Given the description of an element on the screen output the (x, y) to click on. 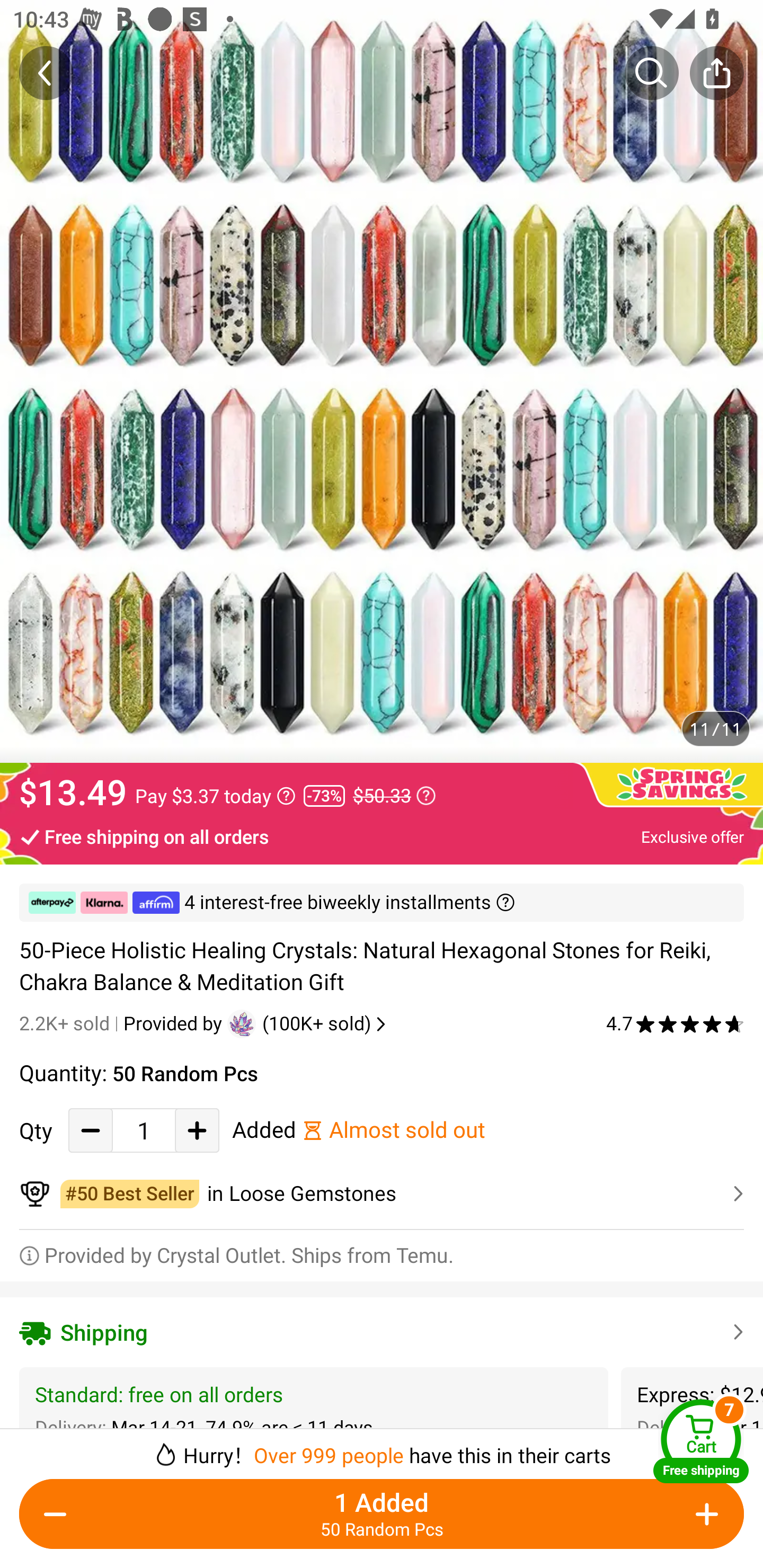
Back (46, 72)
Share (716, 72)
Pay $3.37 today   (215, 795)
Free shipping on all orders Exclusive offer (381, 836)
￼ ￼ ￼ 4 interest-free biweekly installments ￼ (381, 902)
2.2K+ sold Provided by  (123, 1023)
4.7 (674, 1023)
Decrease Quantity Button (90, 1130)
1 (143, 1130)
Add Quantity button (196, 1130)
￼￼in Loose Gemstones (381, 1193)
Shipping (381, 1331)
Cart Free shipping Cart (701, 1440)
￼￼Hurry！Over 999 people have this in their carts (381, 1448)
Decrease Quantity Button (59, 1513)
Add Quantity button (703, 1513)
